Given the description of an element on the screen output the (x, y) to click on. 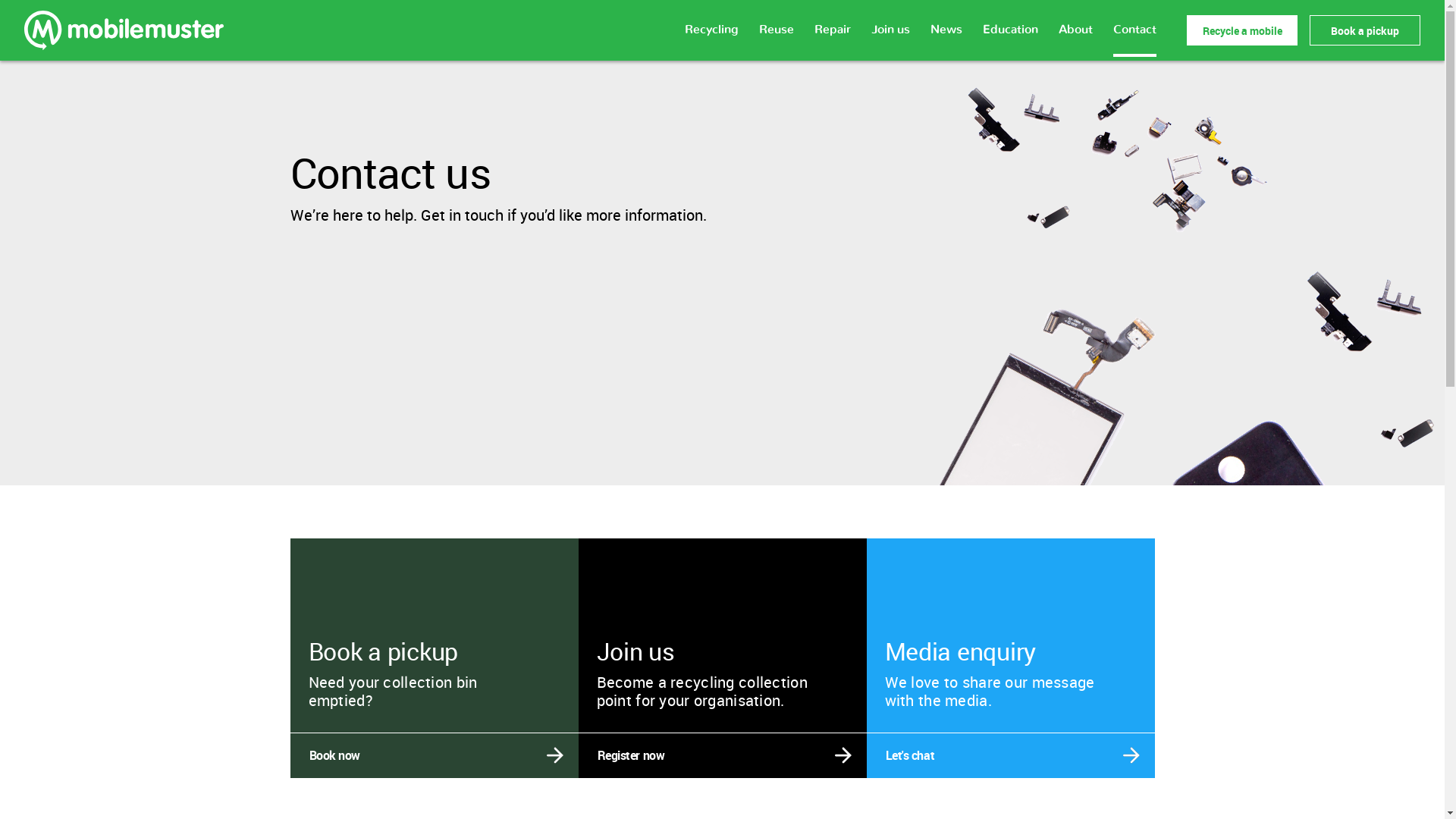
Repair Element type: text (832, 38)
Education Element type: text (1010, 38)
Contact Element type: text (1134, 39)
Reuse Element type: text (776, 38)
Join us Element type: text (890, 38)
Recycling Element type: text (711, 38)
News Element type: text (946, 38)
About Element type: text (1075, 38)
Book a pickup
Need your collection bin emptied?
Book now Element type: text (433, 547)
Recycle a mobile Element type: text (1241, 30)
Home Element type: text (126, 30)
Book a pickup Element type: text (1364, 30)
